Given the description of an element on the screen output the (x, y) to click on. 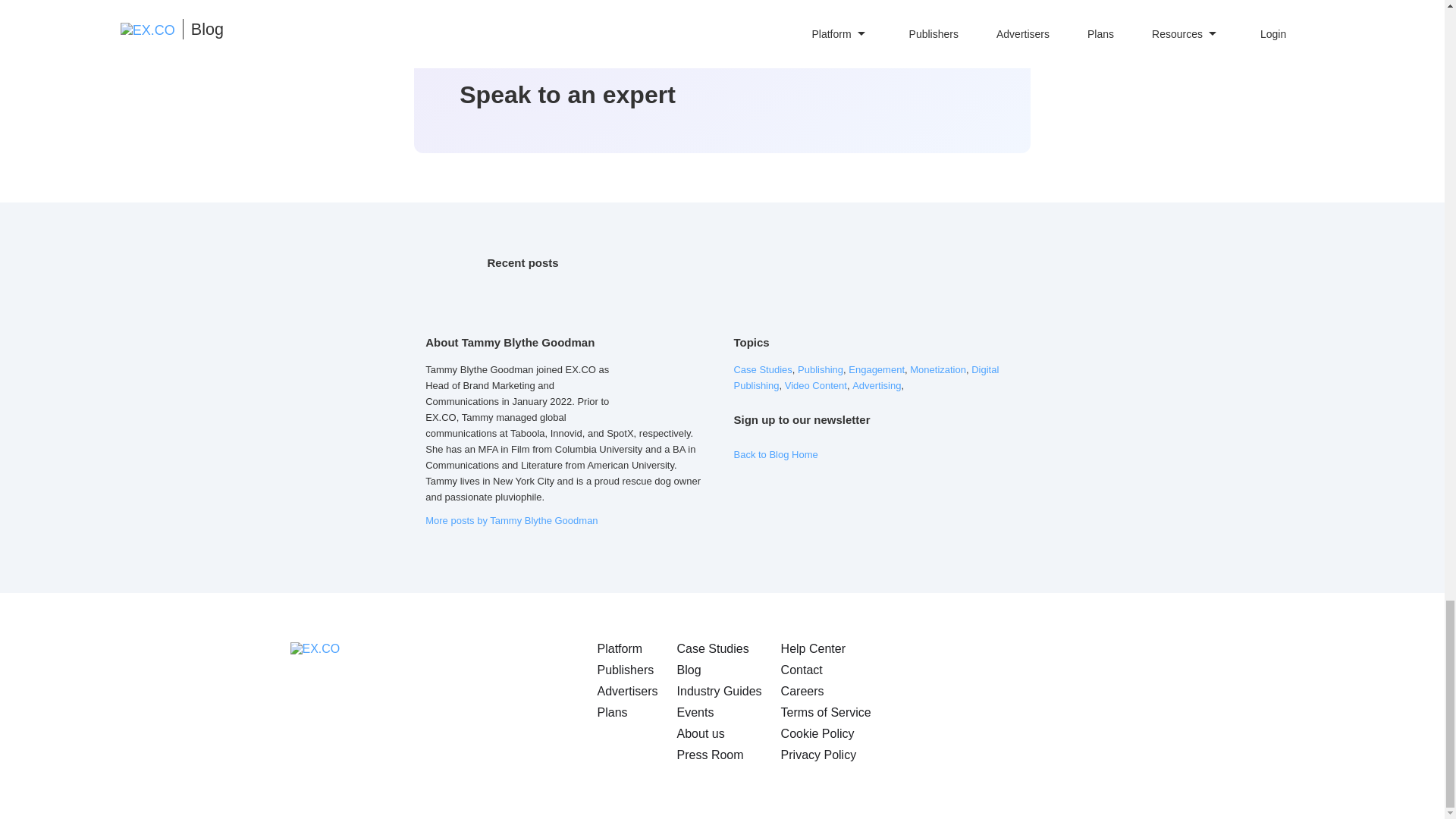
Digital Publishing (865, 376)
Platform (619, 648)
Publishers (624, 669)
Advertising (876, 385)
Back to Blog Home (774, 453)
Advertisers (627, 690)
Tammy Blythe Goodman (668, 373)
Case Studies (762, 368)
Plans (611, 712)
More posts by Tammy Blythe Goodman (510, 520)
